Given the description of an element on the screen output the (x, y) to click on. 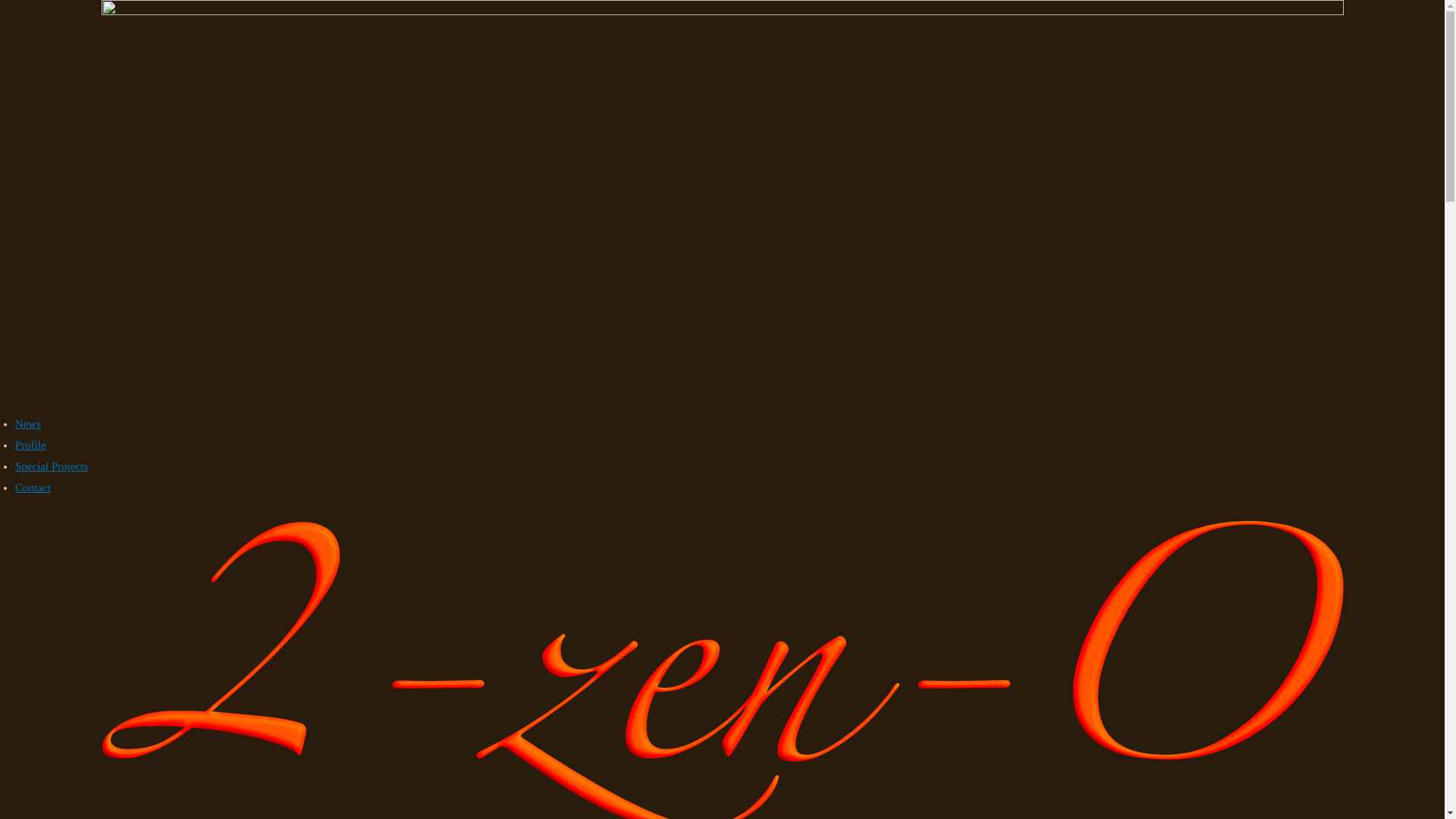
Profile Element type: text (30, 445)
Special Projects Element type: text (51, 466)
Contact Element type: text (32, 487)
News Element type: text (27, 423)
